Given the description of an element on the screen output the (x, y) to click on. 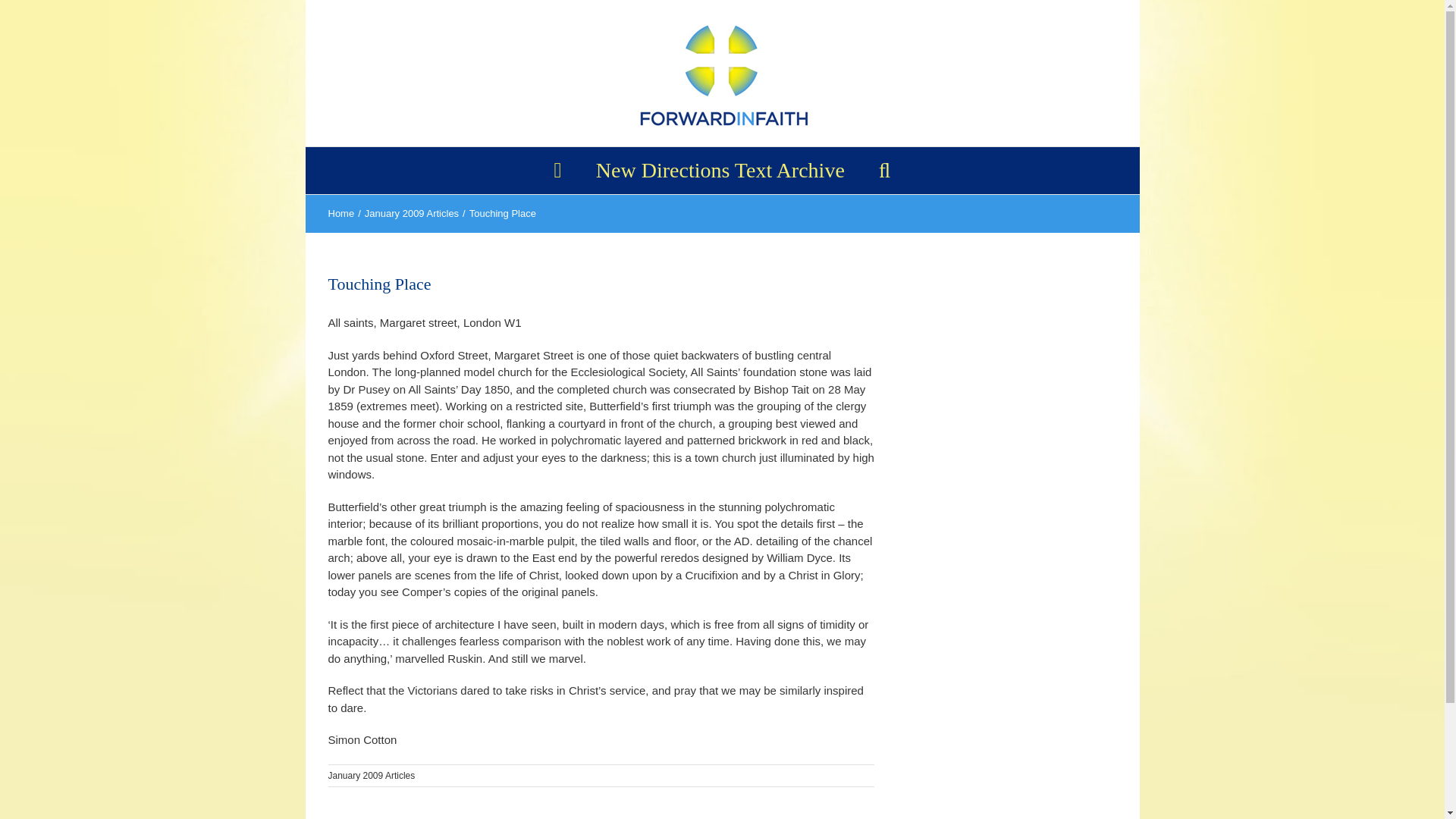
New Directions Directions (719, 170)
New Directions Text Archive (719, 170)
January 2009 Articles (370, 775)
Home (340, 213)
January 2009 Articles (411, 213)
